Given the description of an element on the screen output the (x, y) to click on. 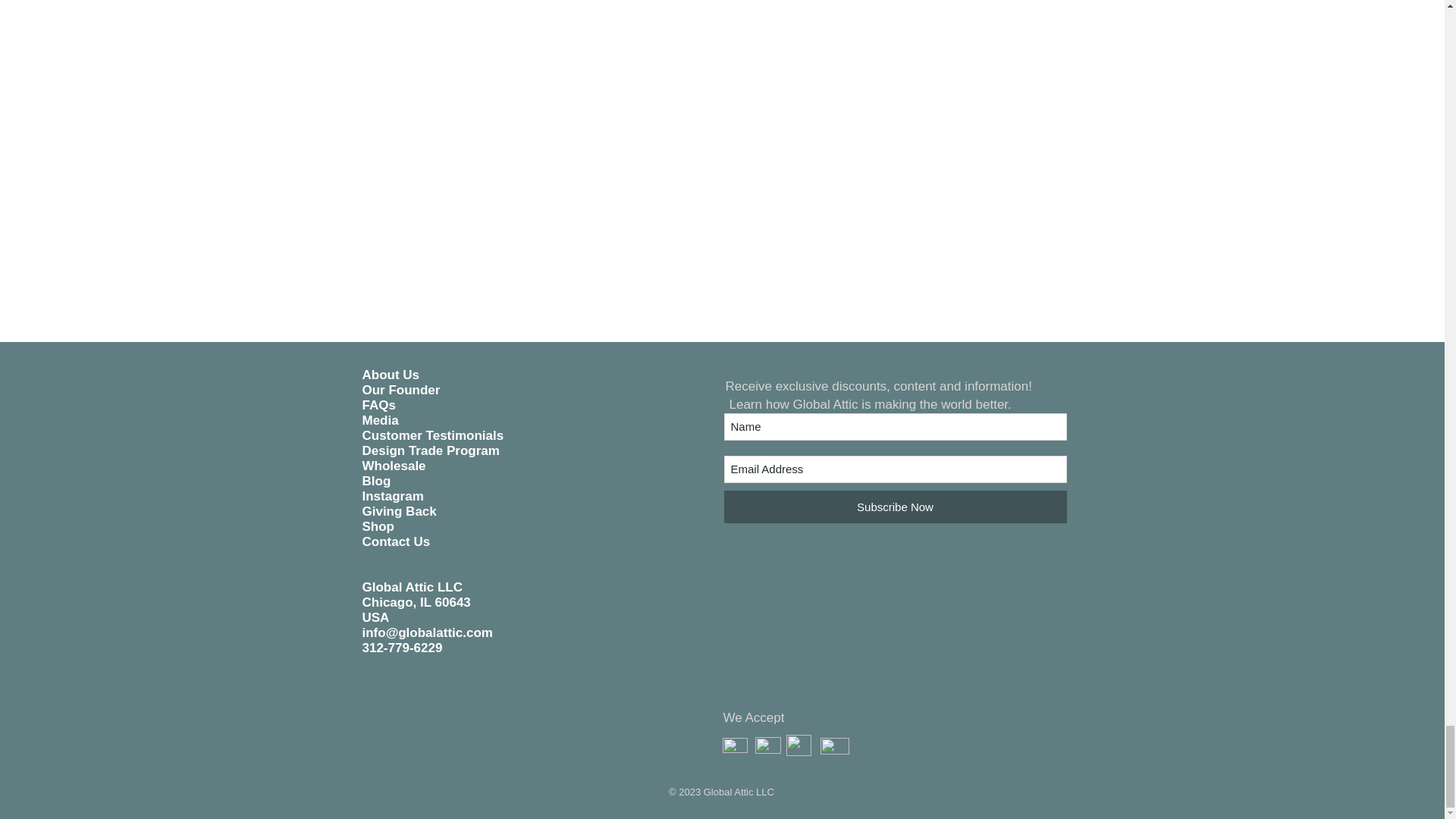
Subscribe Now (894, 506)
Giving Back (399, 511)
Blog (376, 481)
Shop (378, 526)
About Us (391, 374)
FAQs (379, 405)
Instagram (392, 495)
Design Trade Program (430, 450)
Customer Testimonials (432, 435)
Wholesale (394, 465)
Our Founder (401, 390)
Contact Us (396, 541)
Media (380, 420)
